Given the description of an element on the screen output the (x, y) to click on. 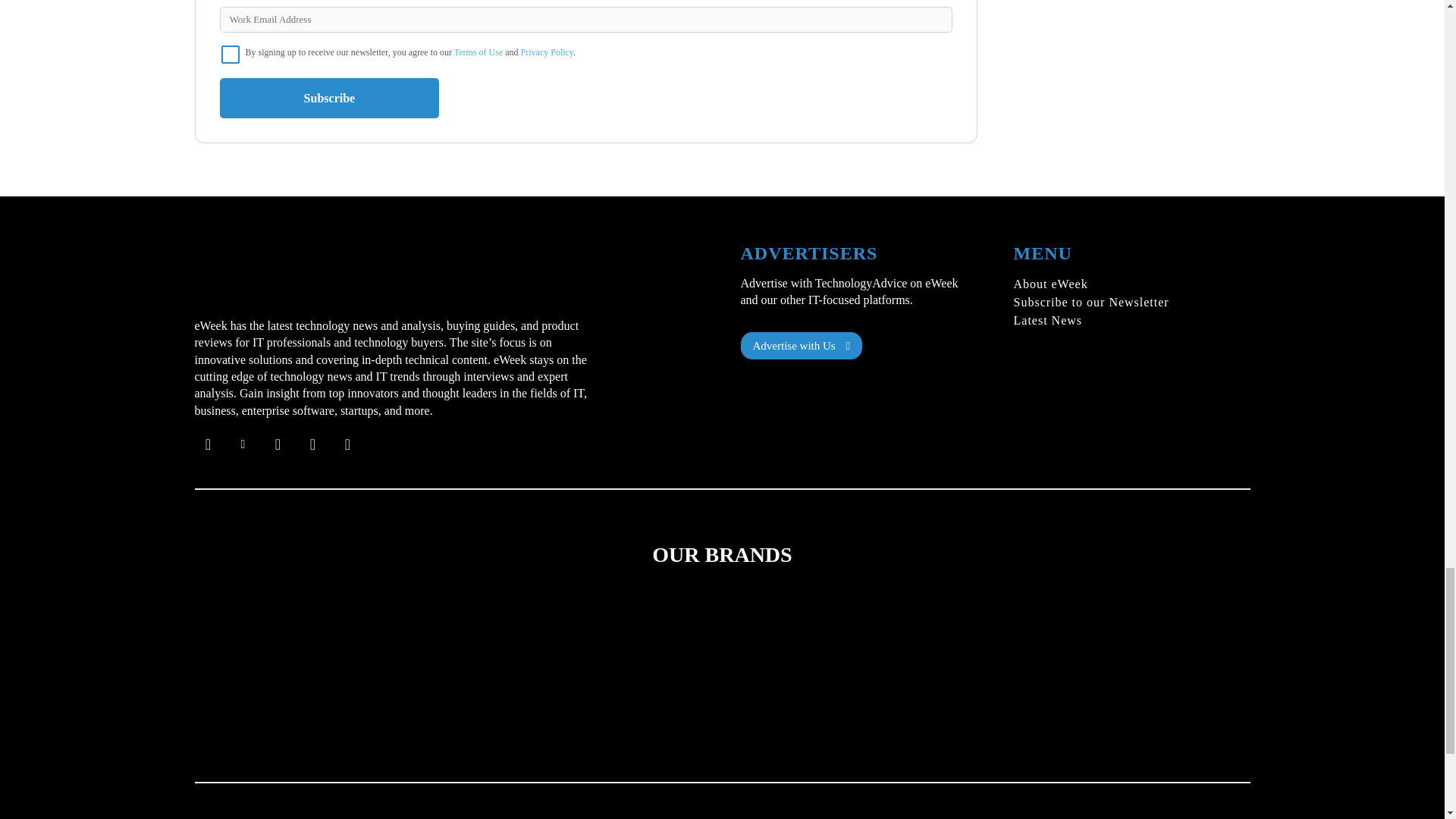
on (230, 54)
